Given the description of an element on the screen output the (x, y) to click on. 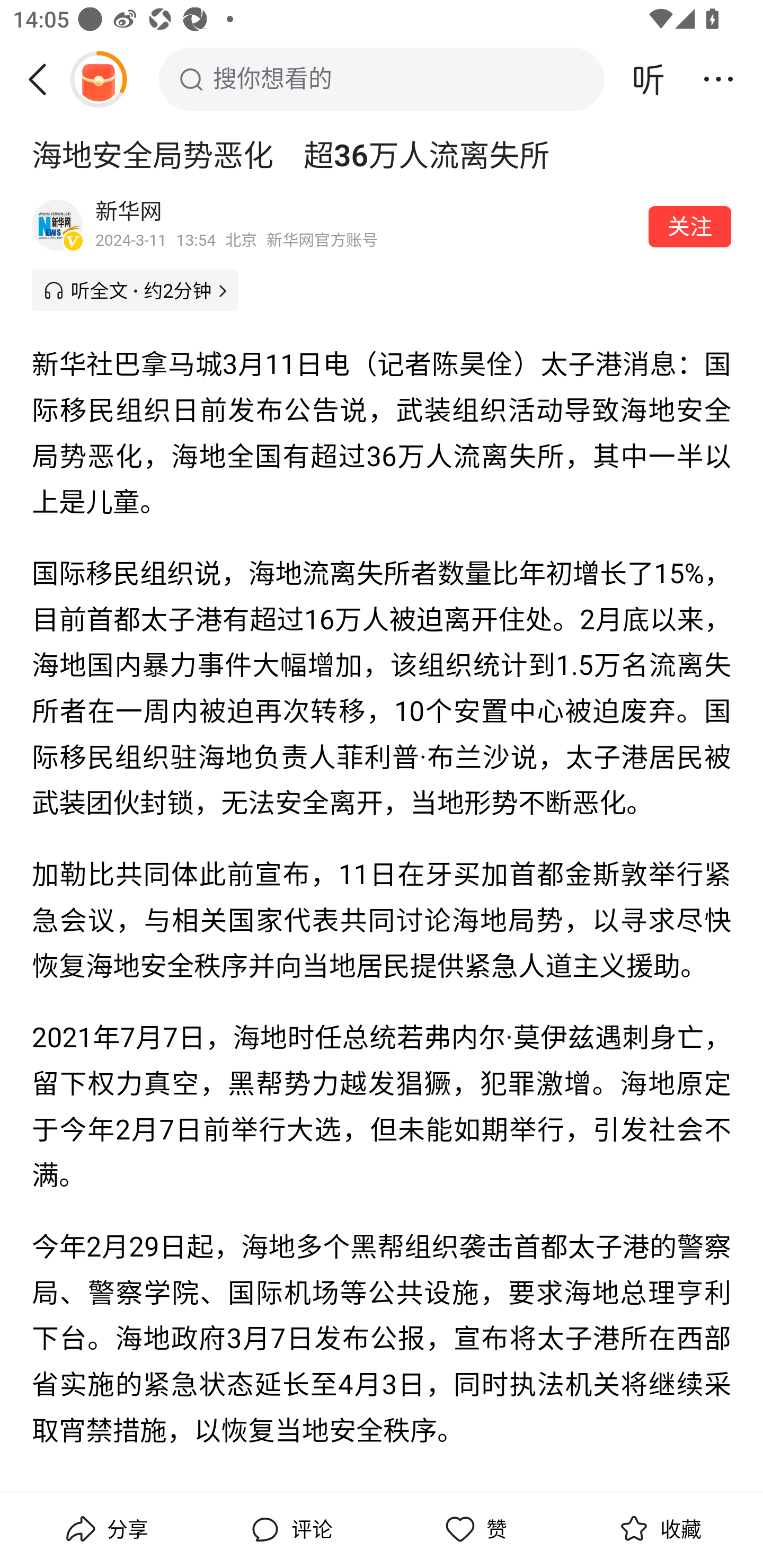
返回 (44, 78)
听头条 (648, 78)
更多操作 (718, 78)
搜你想看的 搜索框，搜你想看的 (381, 79)
阅读赚金币 (98, 79)
作者：新华网，简介：新华网官方账号，2024-3-11 13:54发布，北京 (365, 224)
关注作者 (689, 226)
听全文 约2分钟 (135, 290)
分享 (104, 1529)
评论, 评论 (288, 1529)
,收藏 收藏 (658, 1529)
